Given the description of an element on the screen output the (x, y) to click on. 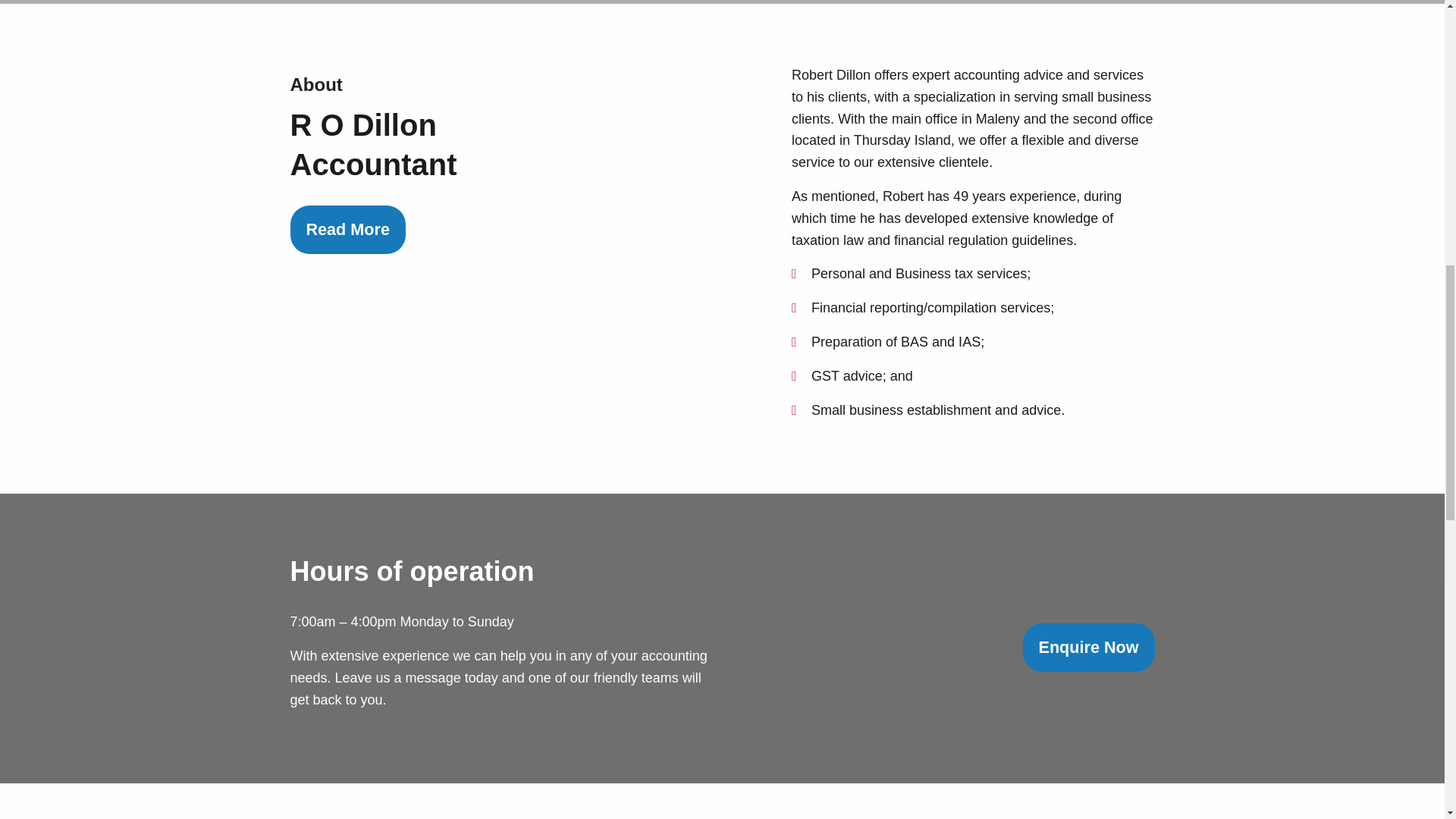
Enquire Now (1088, 647)
Read More (346, 229)
